Given the description of an element on the screen output the (x, y) to click on. 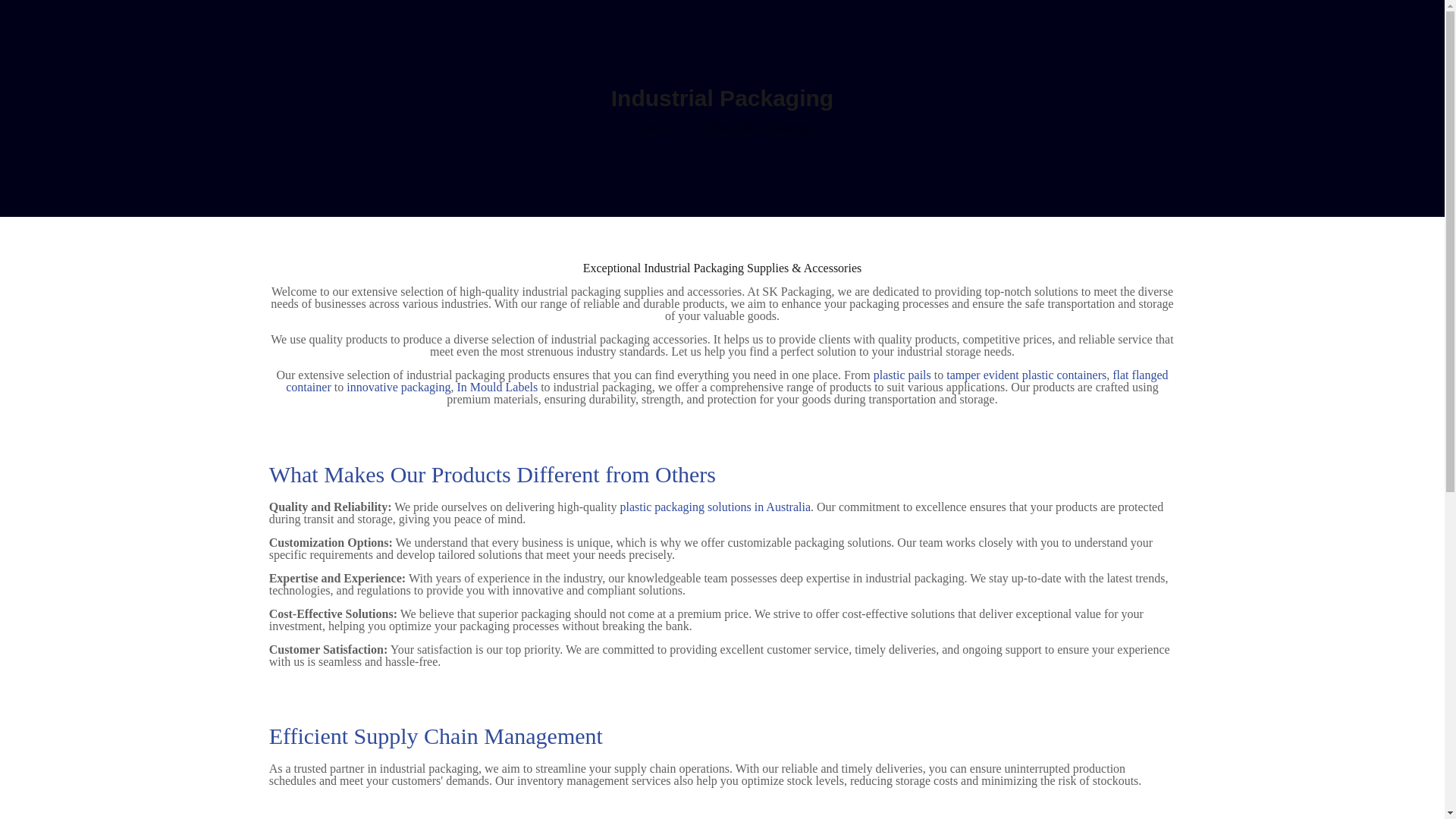
tamper evident plastic containers (1026, 374)
Industrial Packaging (754, 126)
flat flanged container (726, 380)
plastic pails (902, 374)
innovative packaging (397, 386)
Home (649, 126)
plastic packaging solutions in Australia (715, 506)
In Mould Labels (497, 386)
